Given the description of an element on the screen output the (x, y) to click on. 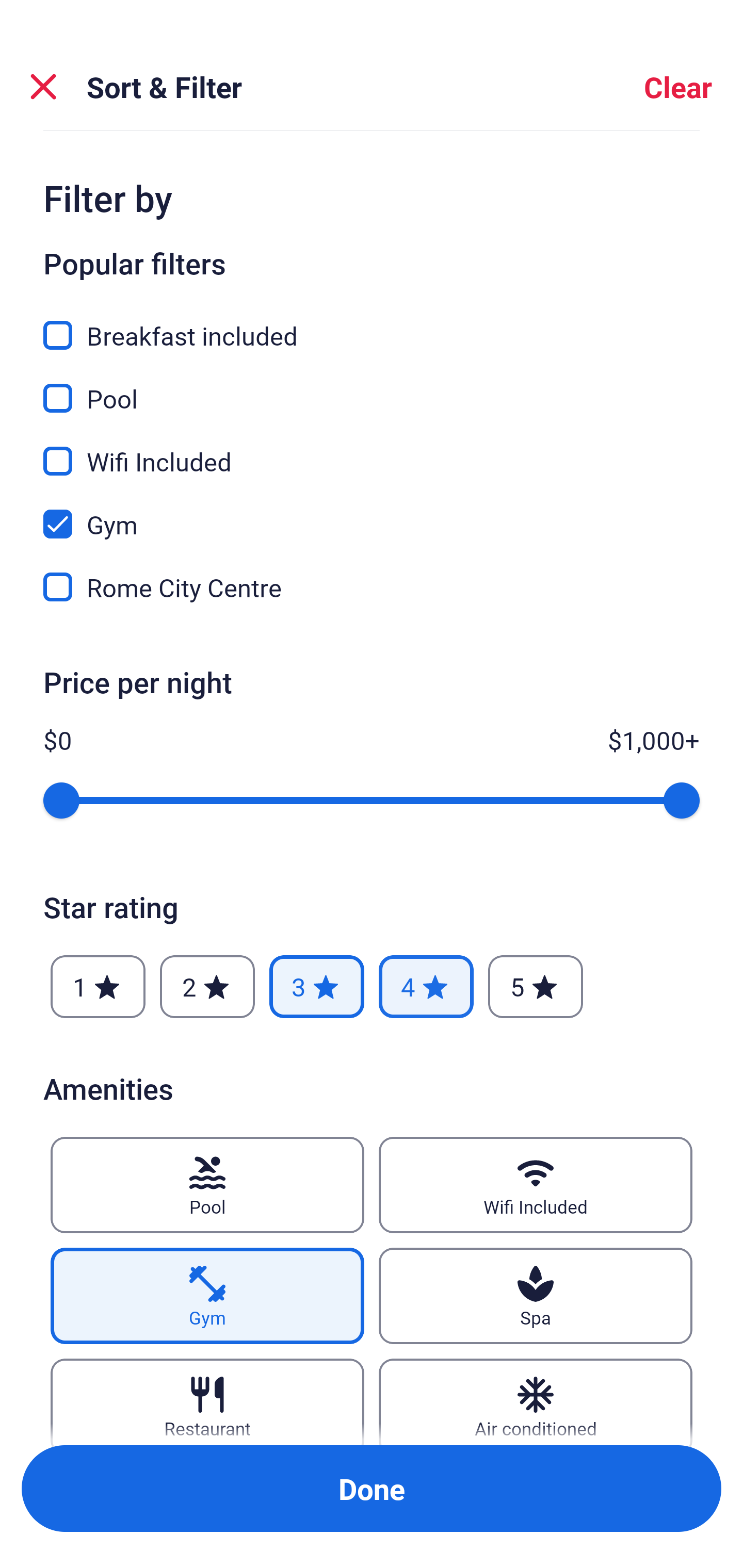
Close Sort and Filter (43, 86)
Clear (677, 86)
Breakfast included, Breakfast included (371, 324)
Pool, Pool (371, 386)
Wifi Included, Wifi Included (371, 449)
Gym, Gym (371, 512)
Rome City Centre, Rome City Centre (371, 587)
1 (97, 986)
2 (206, 986)
3 (316, 986)
4 (426, 986)
5 (535, 986)
Pool (207, 1185)
Wifi Included (535, 1185)
Gym (207, 1295)
Spa (535, 1295)
Restaurant (207, 1401)
Air conditioned (535, 1401)
Apply and close Sort and Filter Done (371, 1488)
